Given the description of an element on the screen output the (x, y) to click on. 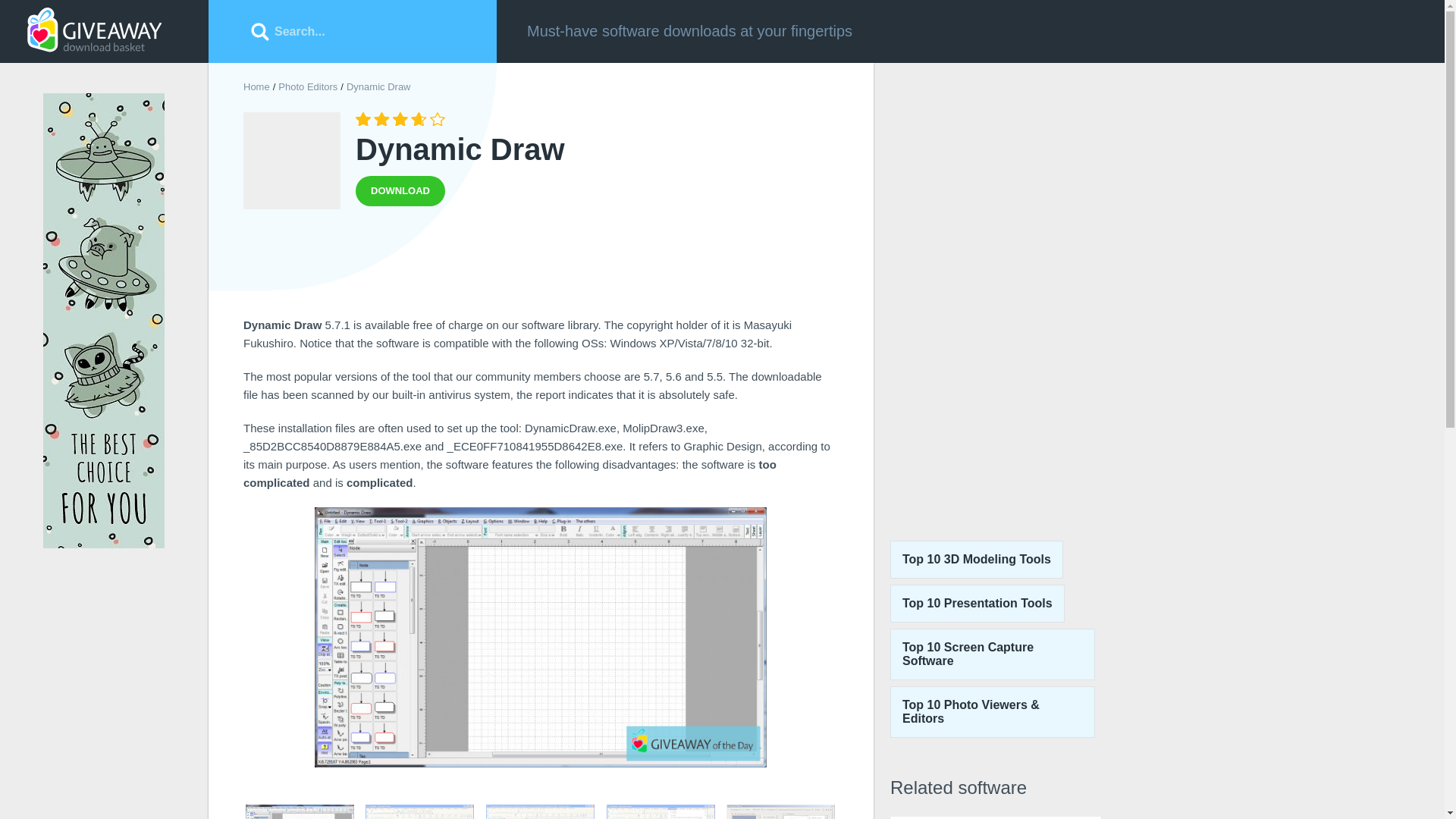
Photo Editors Software for Windows (307, 86)
Top 10 Screen Capture Software for Windows (991, 654)
Software and Games for Windows (94, 30)
Top 10 3D Modeling Tools (975, 559)
Top 10 Presentation Tools for Windows (976, 603)
Top 10 Presentation Tools (976, 603)
Photo Editors (307, 86)
Home (256, 86)
DOWNLOAD (994, 817)
Top 10 3D Modeling Tools for Windows (400, 191)
Software and Games for Windows (975, 559)
Download Dynamic Draw 5.7.1 for free (256, 86)
Top 10 Screen Capture Software (400, 191)
